Given the description of an element on the screen output the (x, y) to click on. 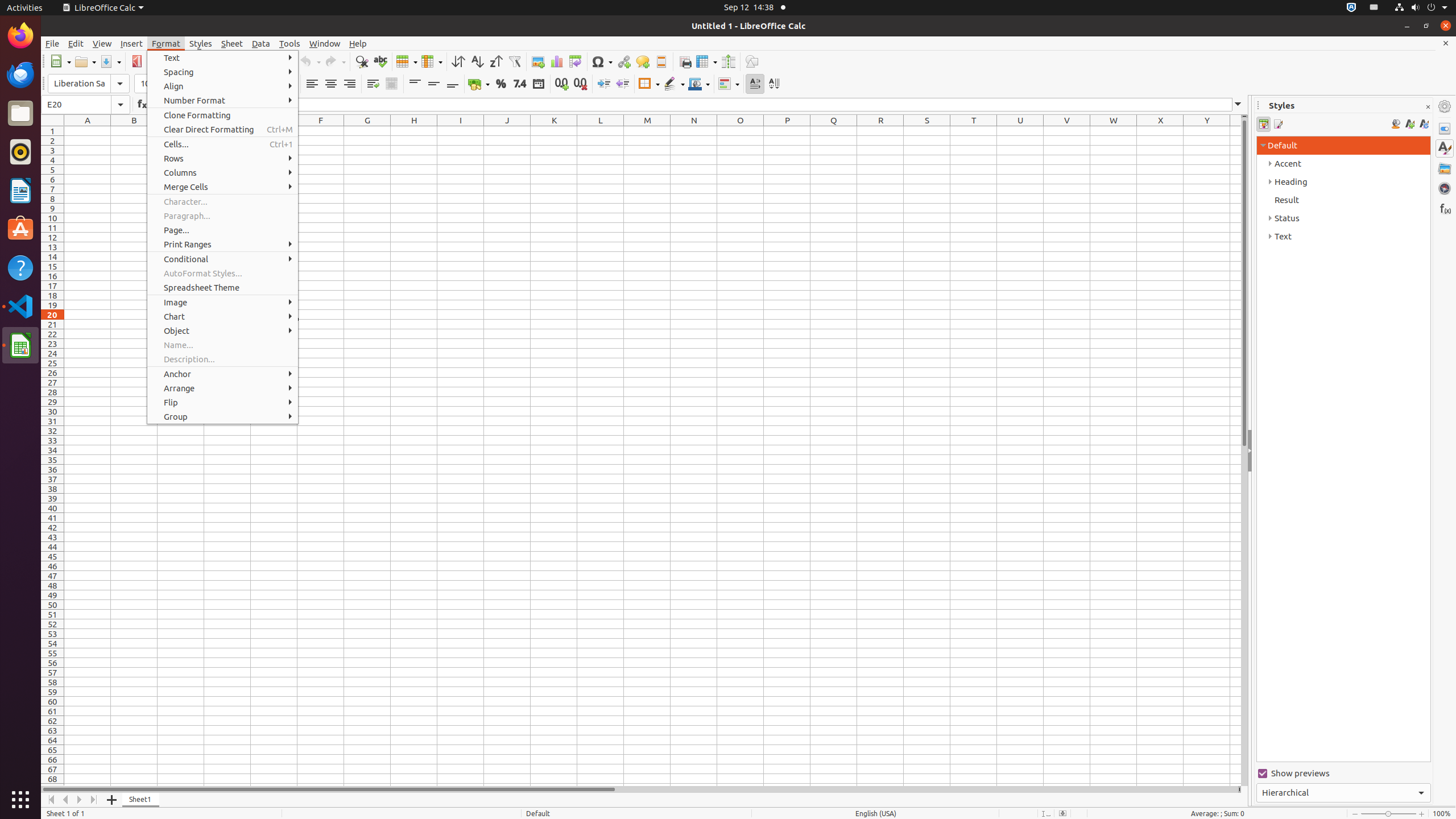
Sheet1 Element type: page-tab (140, 799)
AutoFilter Element type: push-button (514, 61)
Window Element type: menu (324, 43)
Move Right Element type: push-button (79, 799)
Visual Studio Code Element type: push-button (20, 306)
